Given the description of an element on the screen output the (x, y) to click on. 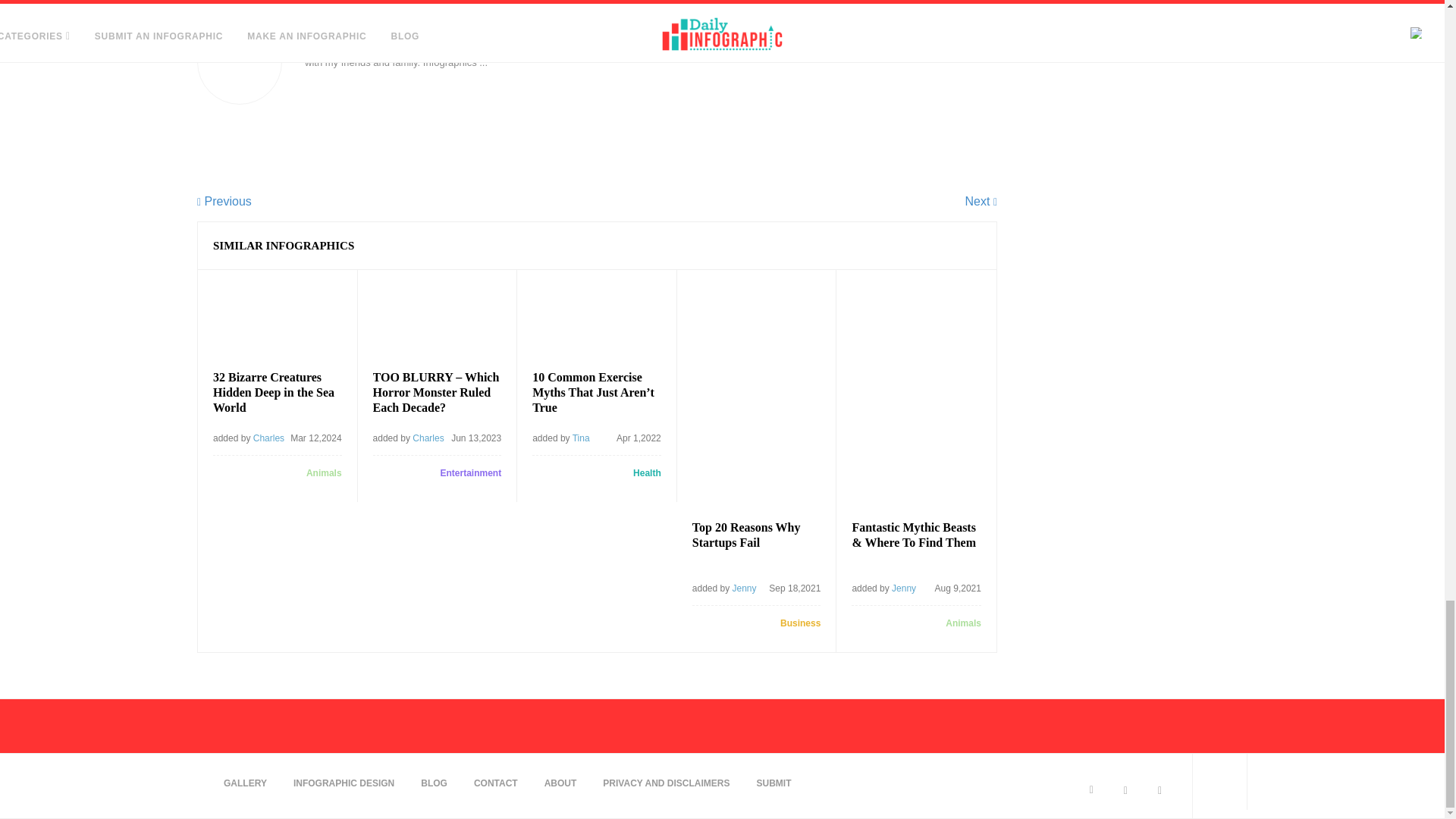
Posts by Charles (428, 438)
Posts by Jenny (903, 588)
Posts by Tina (580, 438)
Posts by Charles (268, 438)
Posts by Jenny (744, 588)
